Given the description of an element on the screen output the (x, y) to click on. 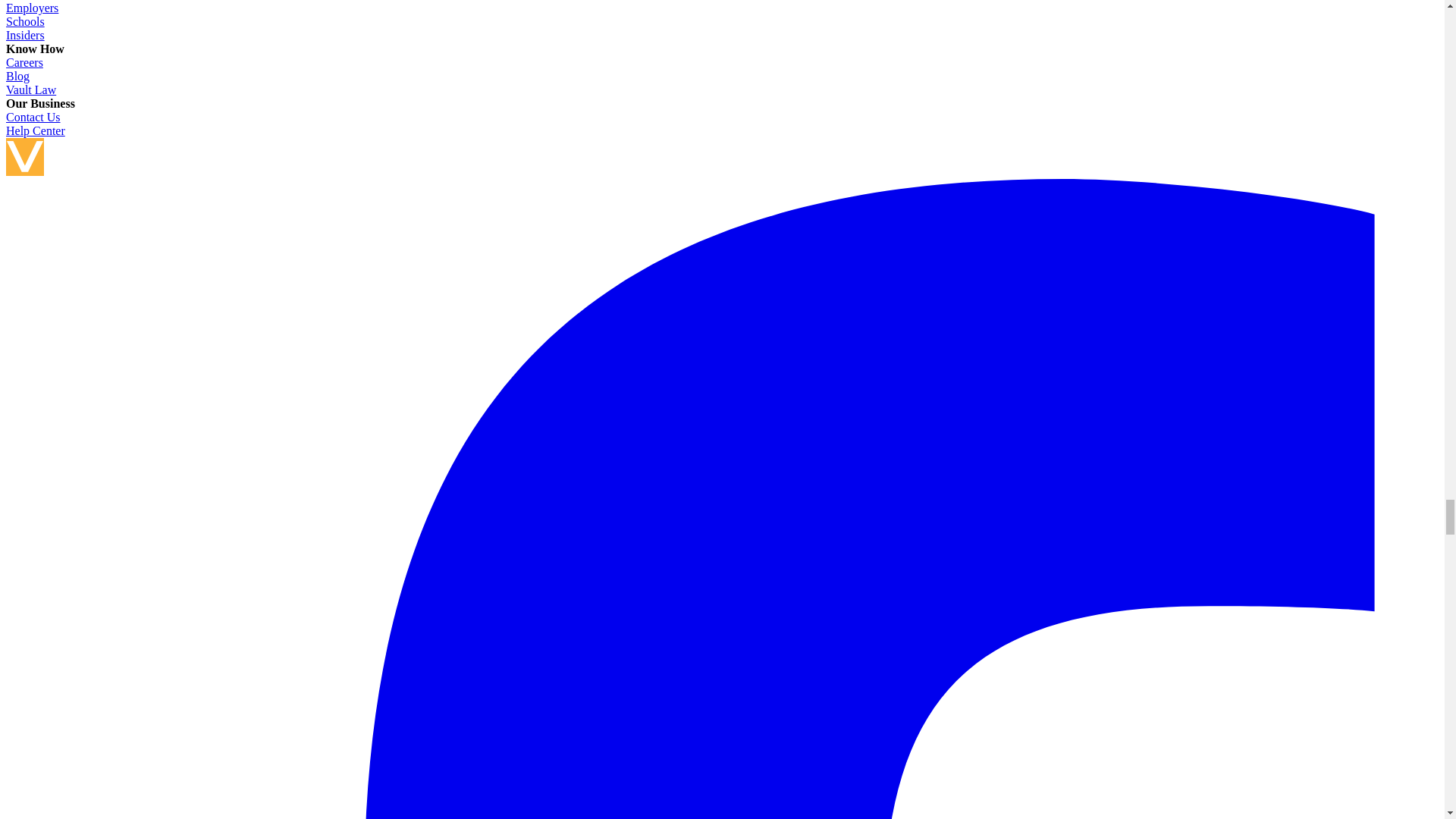
Schools (25, 21)
Vault Law (30, 89)
Insiders (25, 34)
Contact Us (33, 116)
Blog (17, 75)
Employers (31, 7)
Help Center (35, 130)
Careers (24, 62)
